Given the description of an element on the screen output the (x, y) to click on. 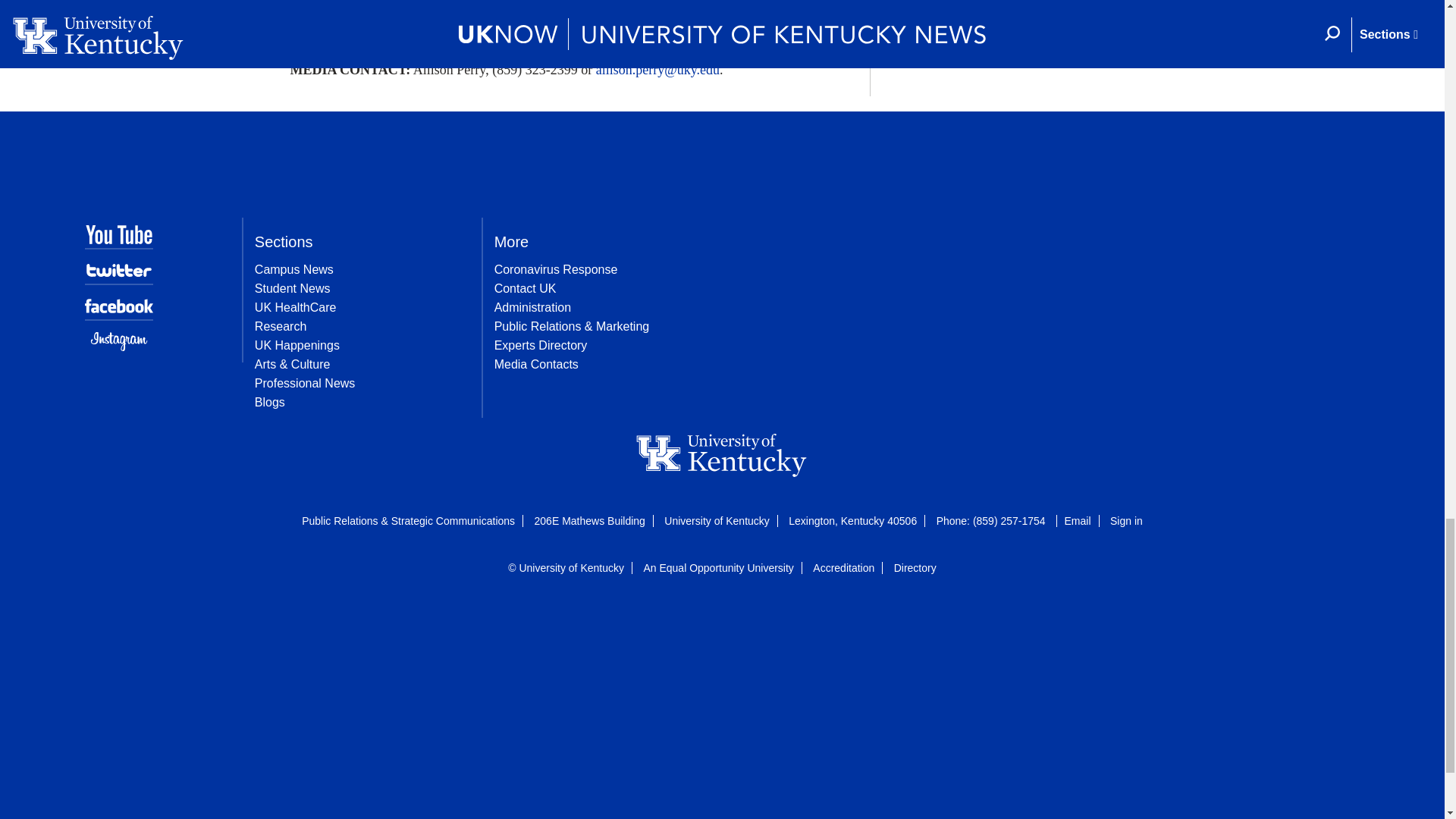
Professional News (304, 382)
Contact UK (525, 287)
Student News (292, 287)
Blogs (269, 401)
Campus News (293, 269)
UK Happenings (296, 345)
Coronavirus Response (556, 269)
Research (279, 326)
UK HealthCare (295, 307)
Administration (532, 307)
